Given the description of an element on the screen output the (x, y) to click on. 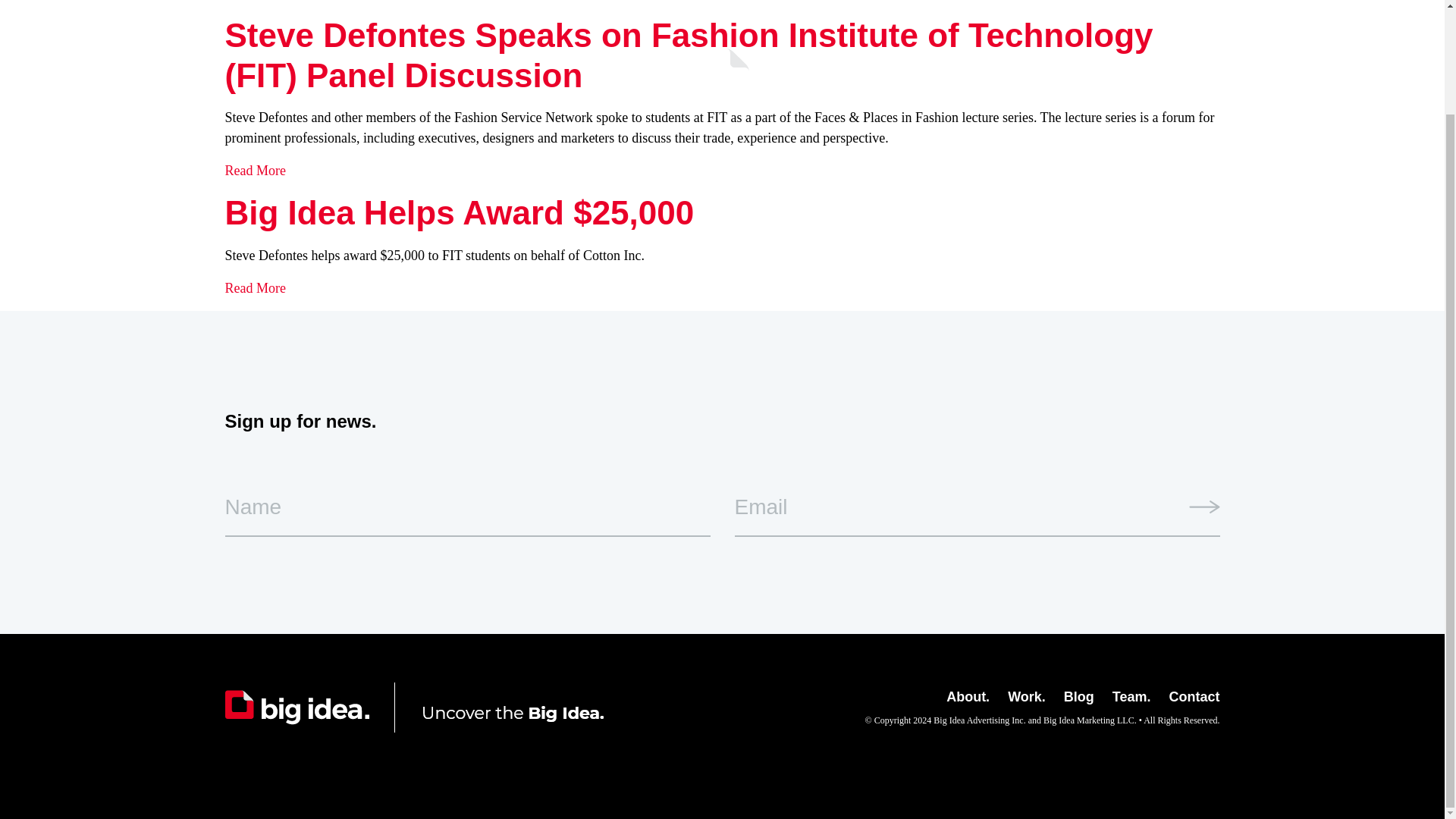
Read More (254, 287)
Team. (1131, 696)
Work. (1026, 696)
Contact (1194, 696)
Submit (1204, 506)
Blog (1079, 696)
Submit (1204, 506)
Read More (254, 170)
Read More (254, 0)
About. (968, 696)
